Given the description of an element on the screen output the (x, y) to click on. 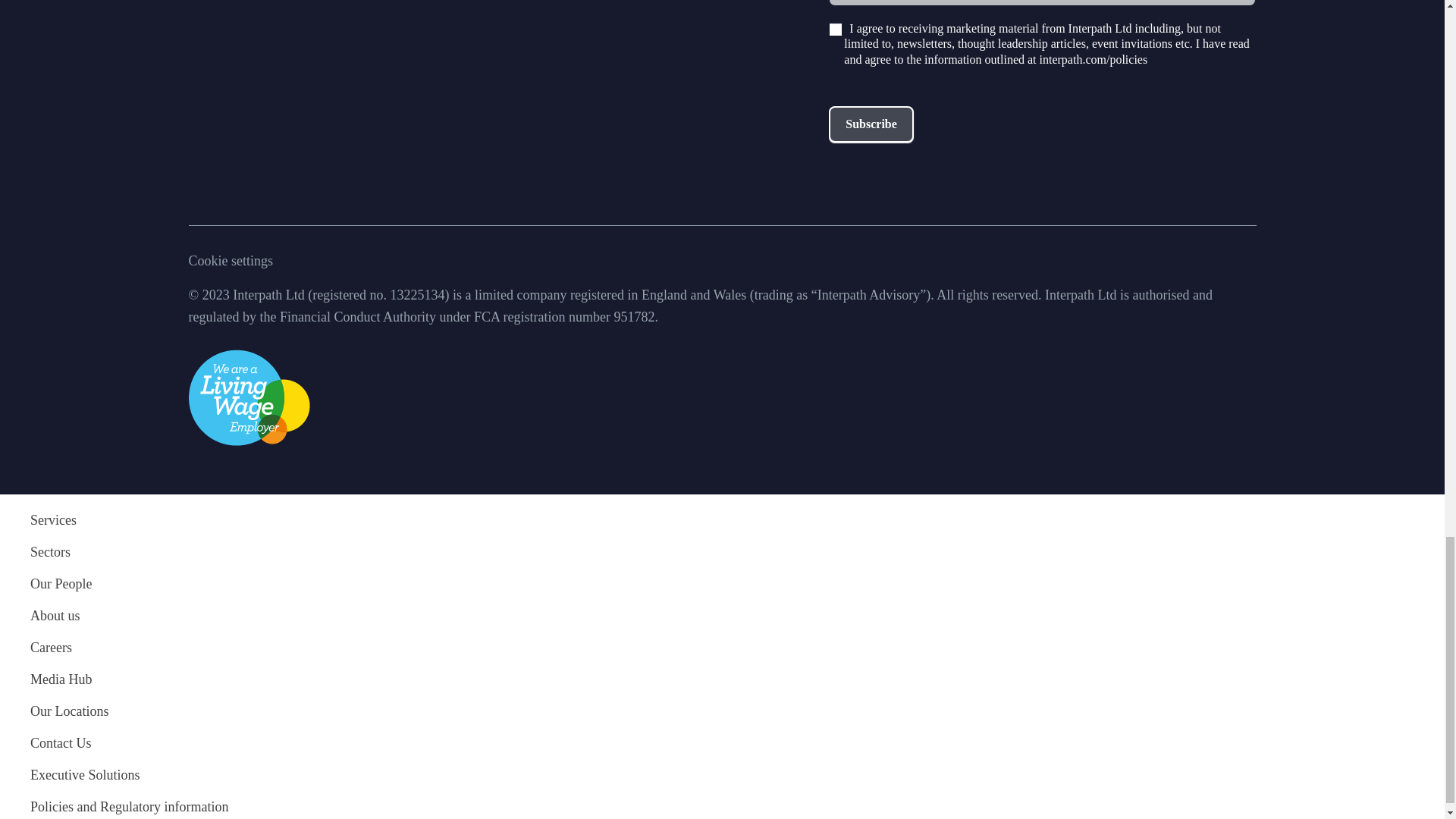
Careers (50, 647)
Our Locations (68, 711)
Executive Solutions (84, 774)
Subscribe (871, 124)
Policies and Regulatory information (129, 806)
Our People (60, 583)
Services (53, 519)
About us (55, 615)
Contact Us (60, 743)
Sectors (49, 551)
